Given the description of an element on the screen output the (x, y) to click on. 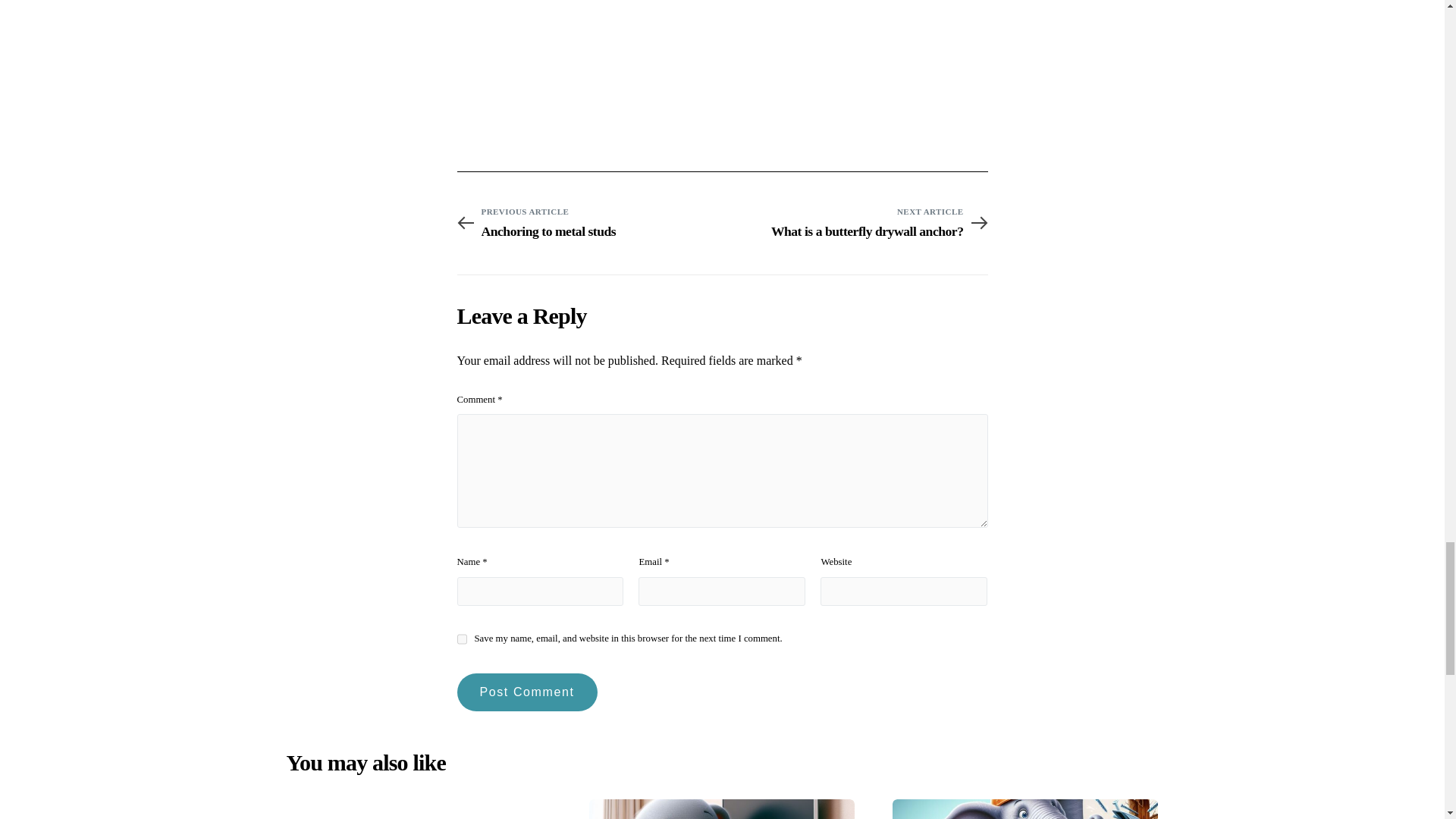
Post Comment (526, 692)
 View Post: How to unmount TV from Wall? (721, 809)
What is a butterfly drywall anchor? (853, 230)
 View Post: Mounting a Shelf on Drywall without studs (418, 809)
Anchoring to metal studs (588, 221)
Post Comment (853, 221)
 View Post: Wall Anchors for Metal Studs (588, 230)
